Given the description of an element on the screen output the (x, y) to click on. 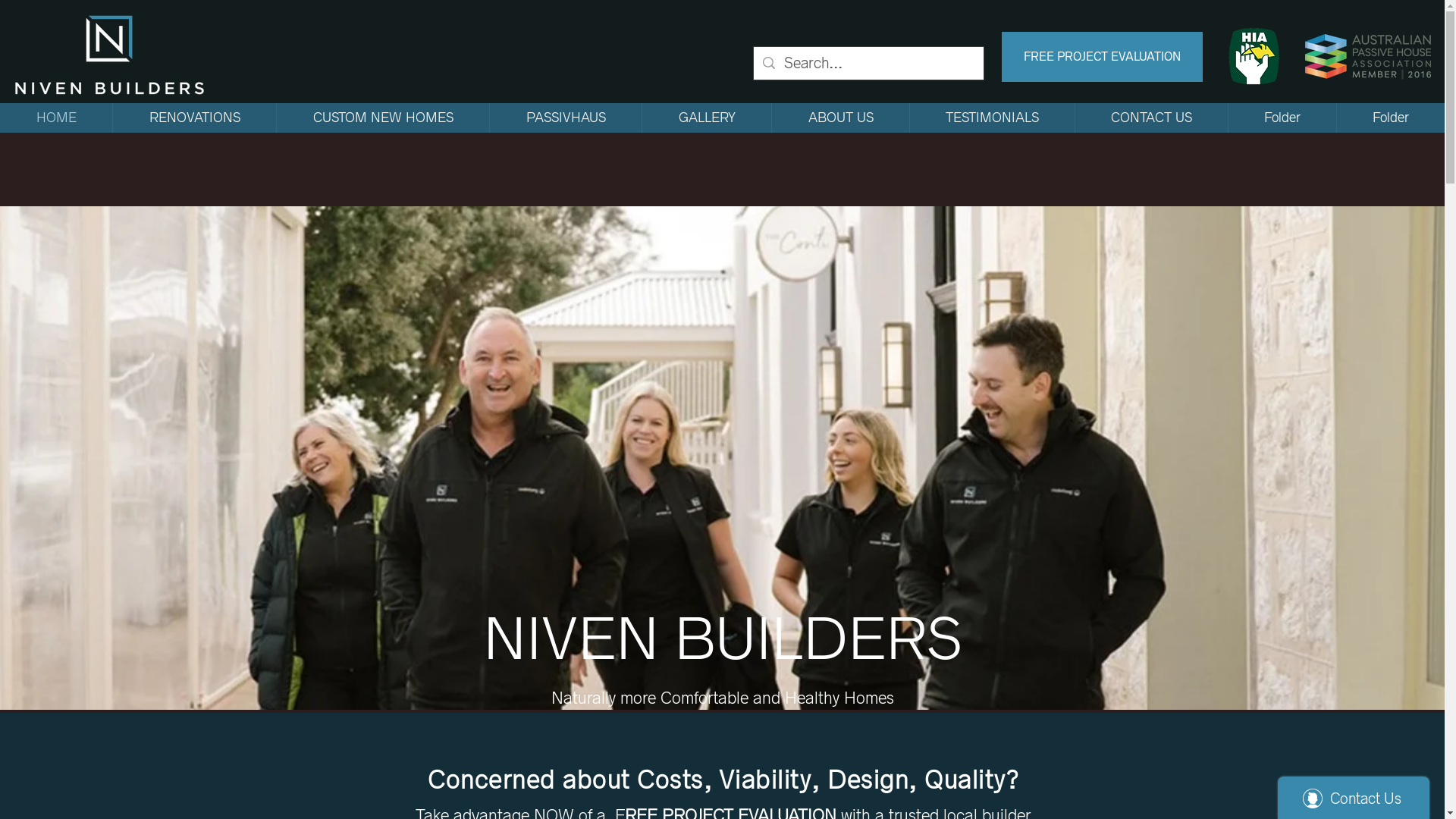
ABOUT US Element type: text (840, 117)
CONTACT US Element type: text (1150, 117)
HOME Element type: text (56, 117)
RENOVATIONS Element type: text (194, 117)
PASSIVHAUS Element type: text (565, 117)
CUSTOM NEW HOMES Element type: text (382, 117)
FREE PROJECT EVALUATION Element type: text (1101, 56)
TESTIMONIALS Element type: text (991, 117)
